Given the description of an element on the screen output the (x, y) to click on. 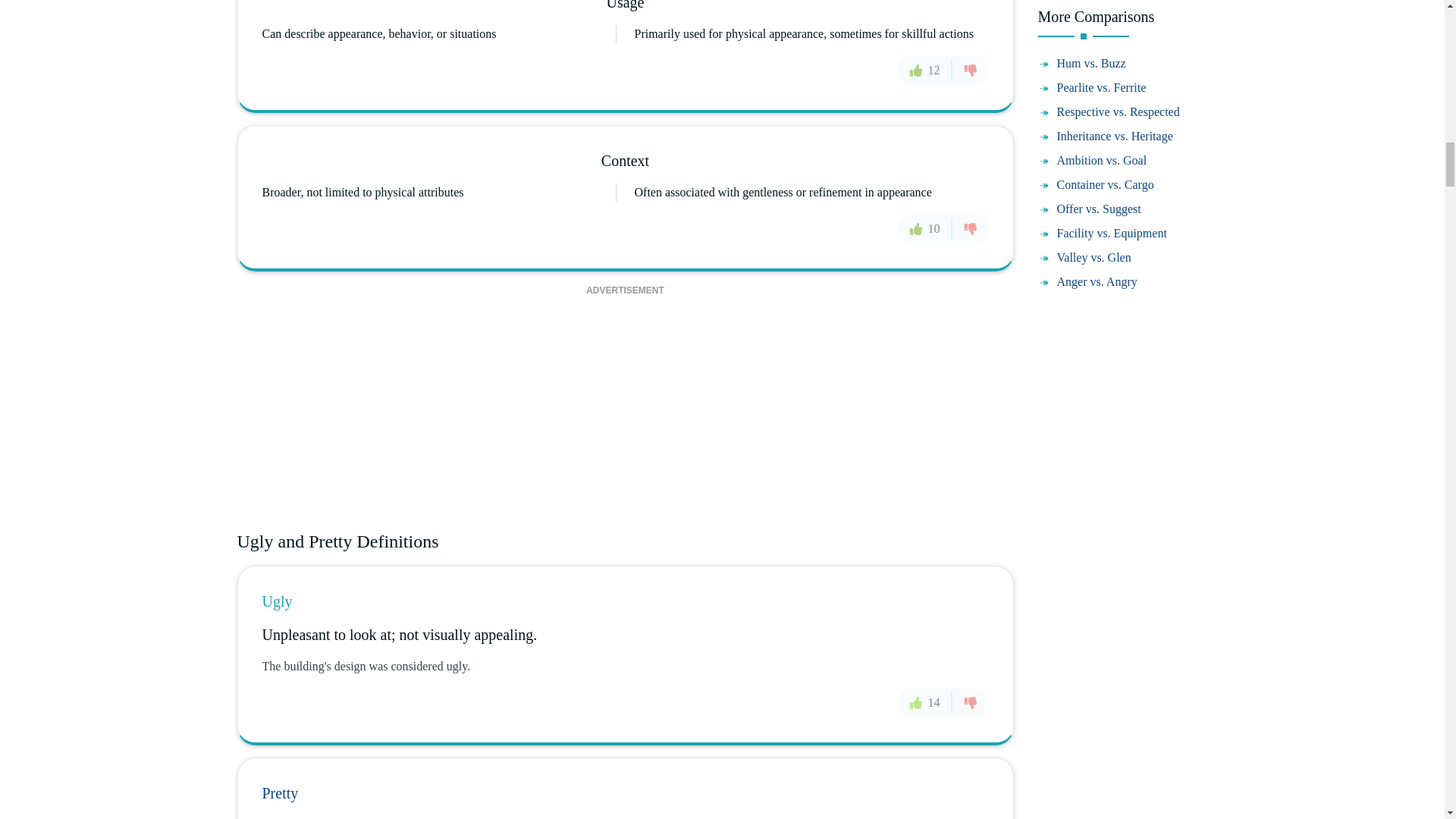
12 (925, 70)
10 (925, 228)
14 (925, 702)
